Given the description of an element on the screen output the (x, y) to click on. 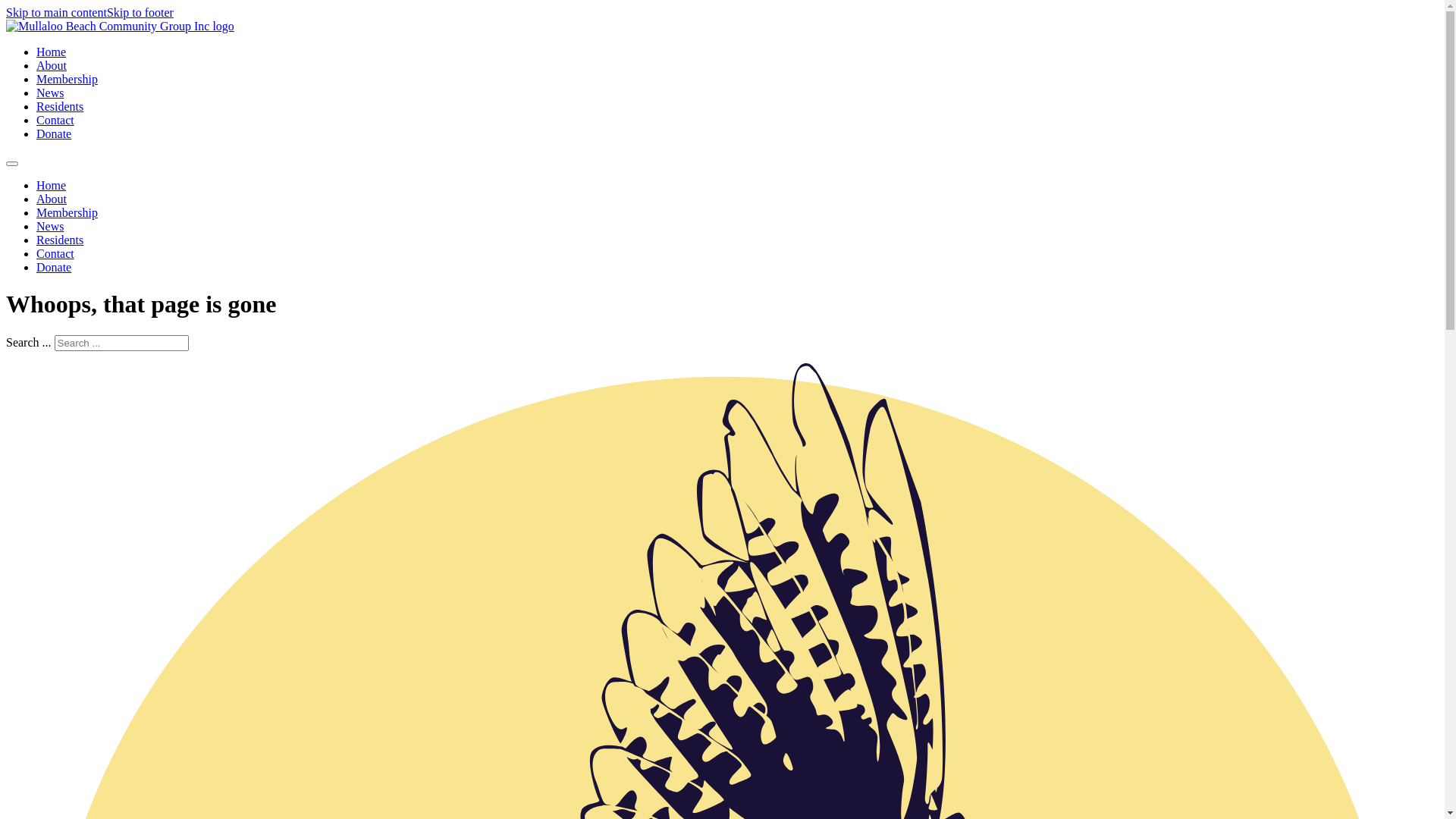
About Element type: text (51, 198)
News Element type: text (49, 225)
Residents Element type: text (59, 106)
Skip to footer Element type: text (139, 12)
Home Element type: text (50, 51)
Residents Element type: text (59, 239)
Back to Homepage Element type: hover (120, 25)
About Element type: text (51, 65)
Home Element type: text (50, 184)
Contact Element type: text (55, 119)
Contact Element type: text (55, 253)
Skip to main content Element type: text (56, 12)
Membership Element type: text (66, 212)
Membership Element type: text (66, 78)
News Element type: text (49, 92)
Donate Element type: text (53, 133)
Donate Element type: text (53, 266)
